Given the description of an element on the screen output the (x, y) to click on. 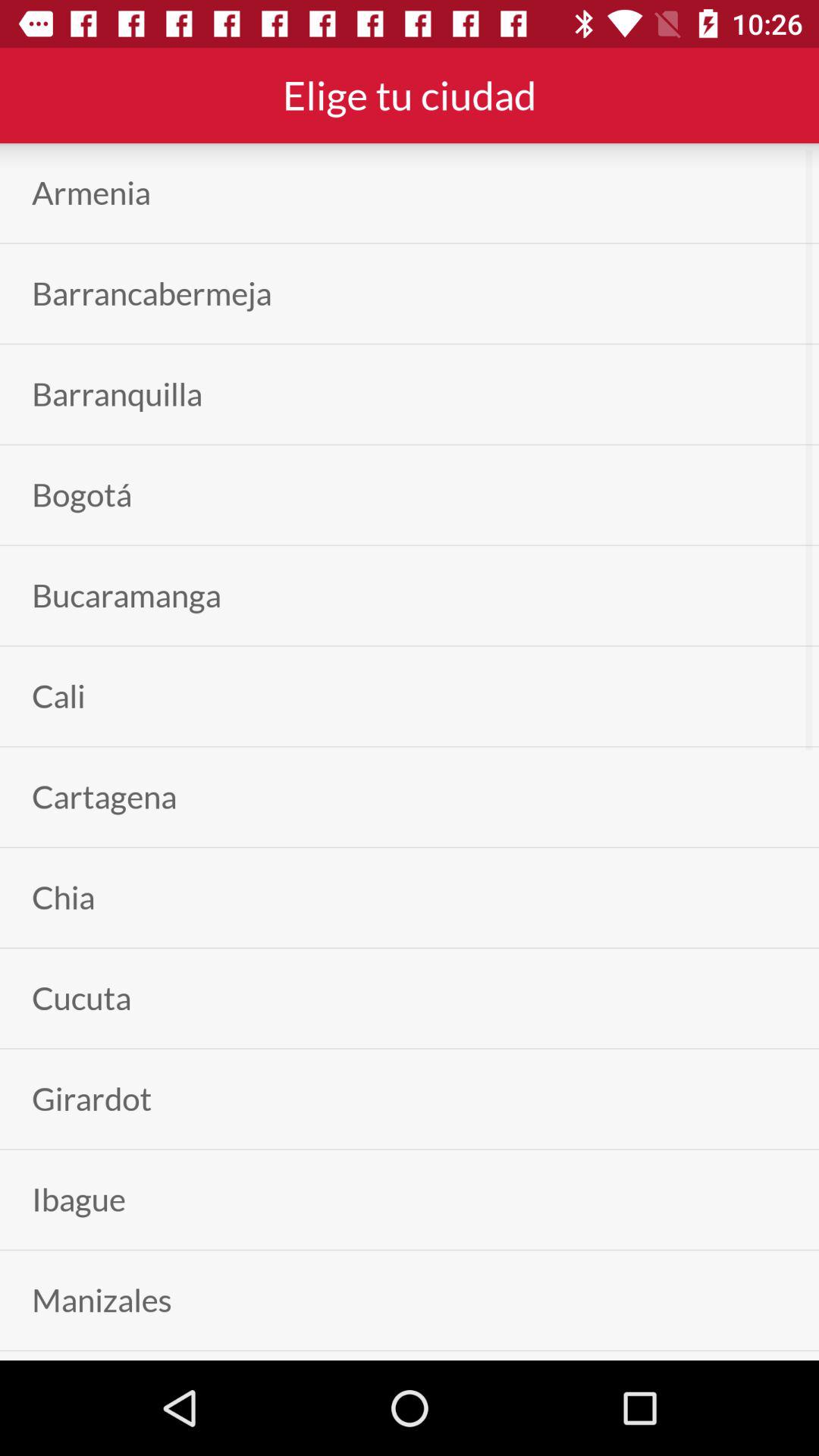
turn on app below barrancabermeja item (116, 394)
